Given the description of an element on the screen output the (x, y) to click on. 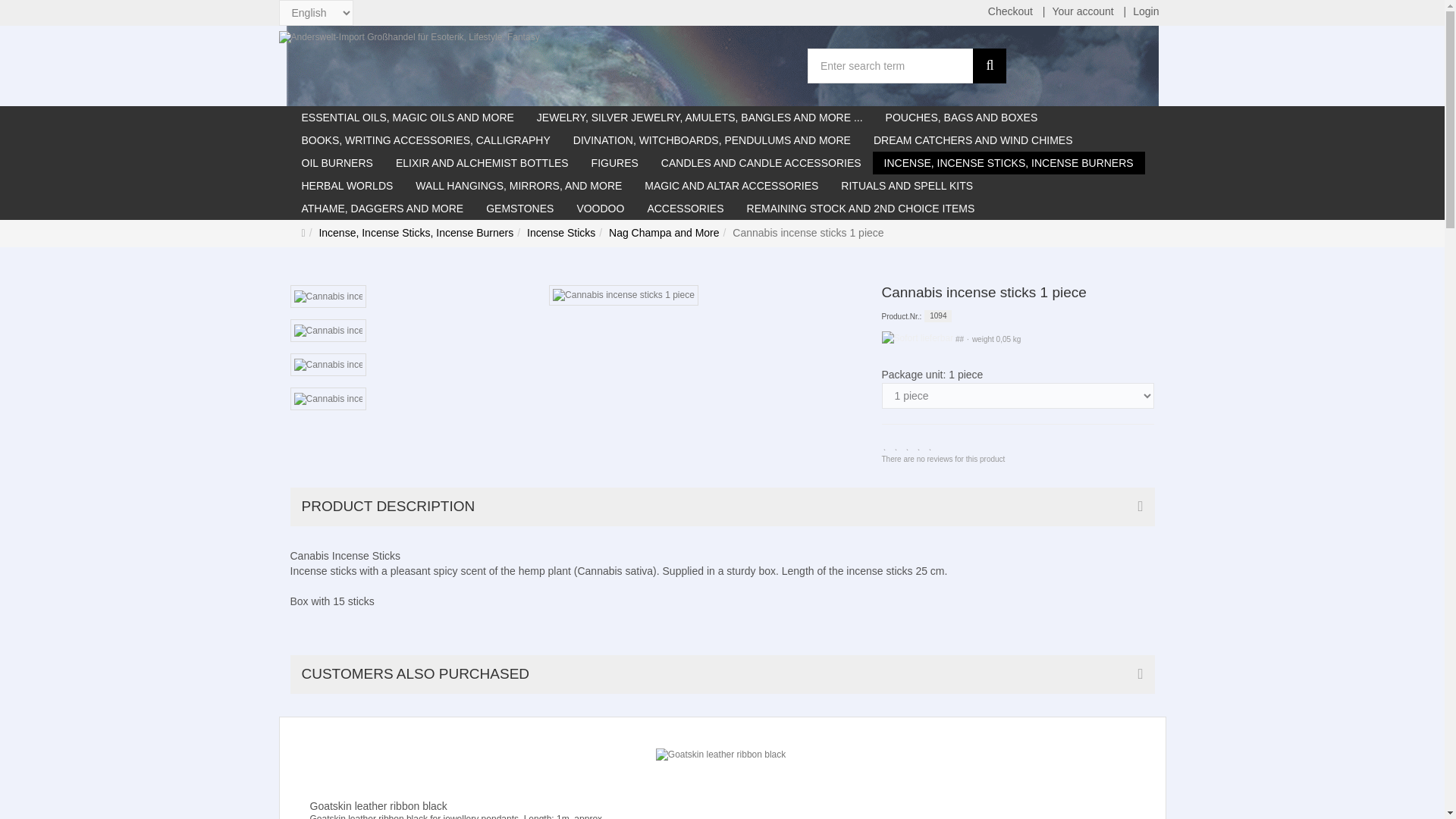
Cannabis incense sticks 1 piece (328, 364)
JEWELRY, SILVER JEWELRY, AMULETS, BANGLES AND MORE ... (700, 117)
Cannabis incense sticks 1 piece (801, 233)
search (989, 65)
search (989, 65)
Your account (1082, 12)
Cannabis incense sticks 1 piece (328, 330)
Cannabis incense sticks 1 piece (328, 399)
ESSENTIAL OILS, MAGIC OILS AND MORE (406, 117)
Login (1145, 12)
Cannabis incense sticks 1 piece (623, 295)
Sofort lieferbar (916, 337)
Goatskin leather ribbon black (721, 754)
Cannabis incense sticks 1 piece (328, 296)
Checkout (1010, 12)
